Given the description of an element on the screen output the (x, y) to click on. 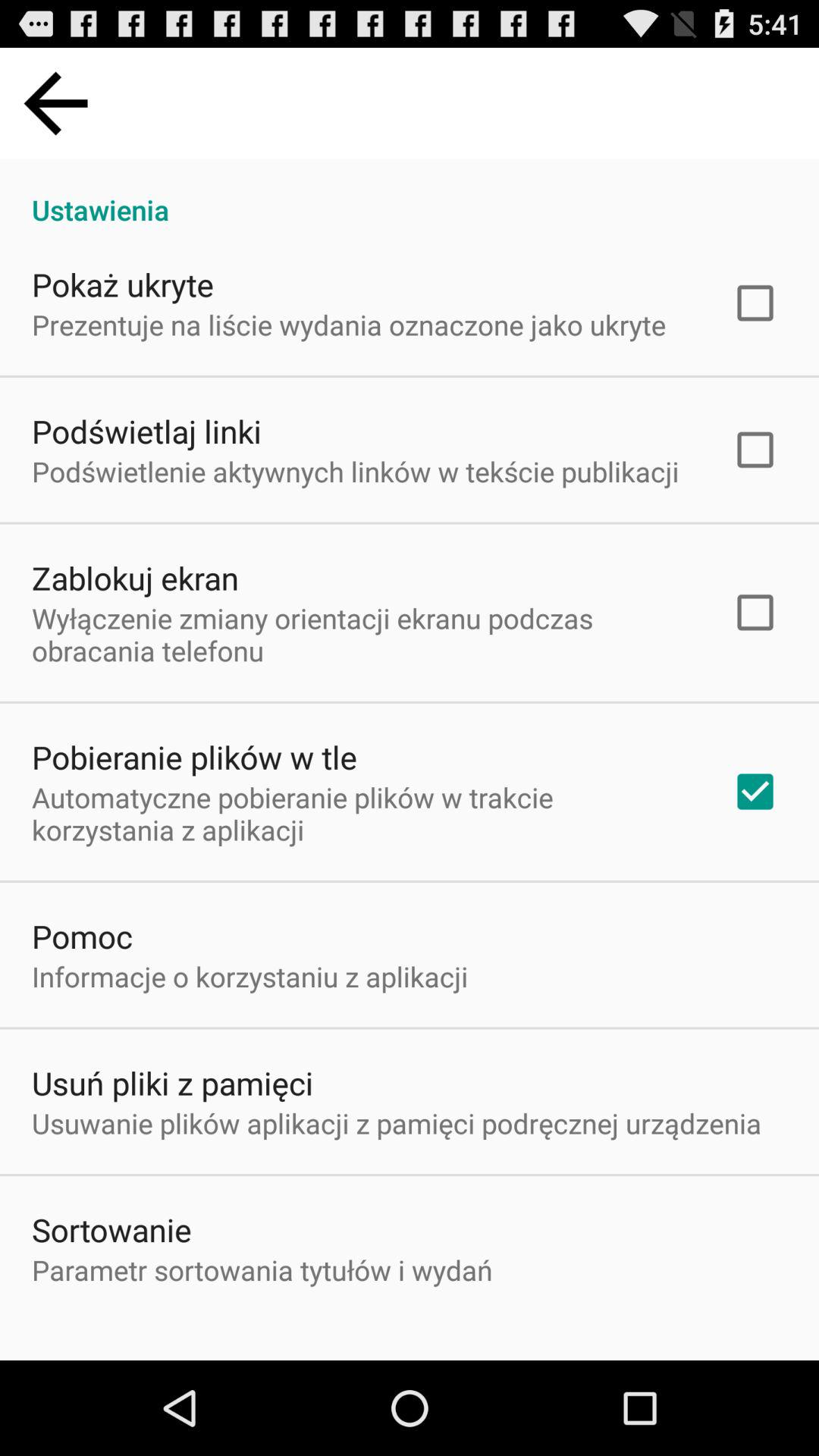
click the item above pomoc item (361, 813)
